Given the description of an element on the screen output the (x, y) to click on. 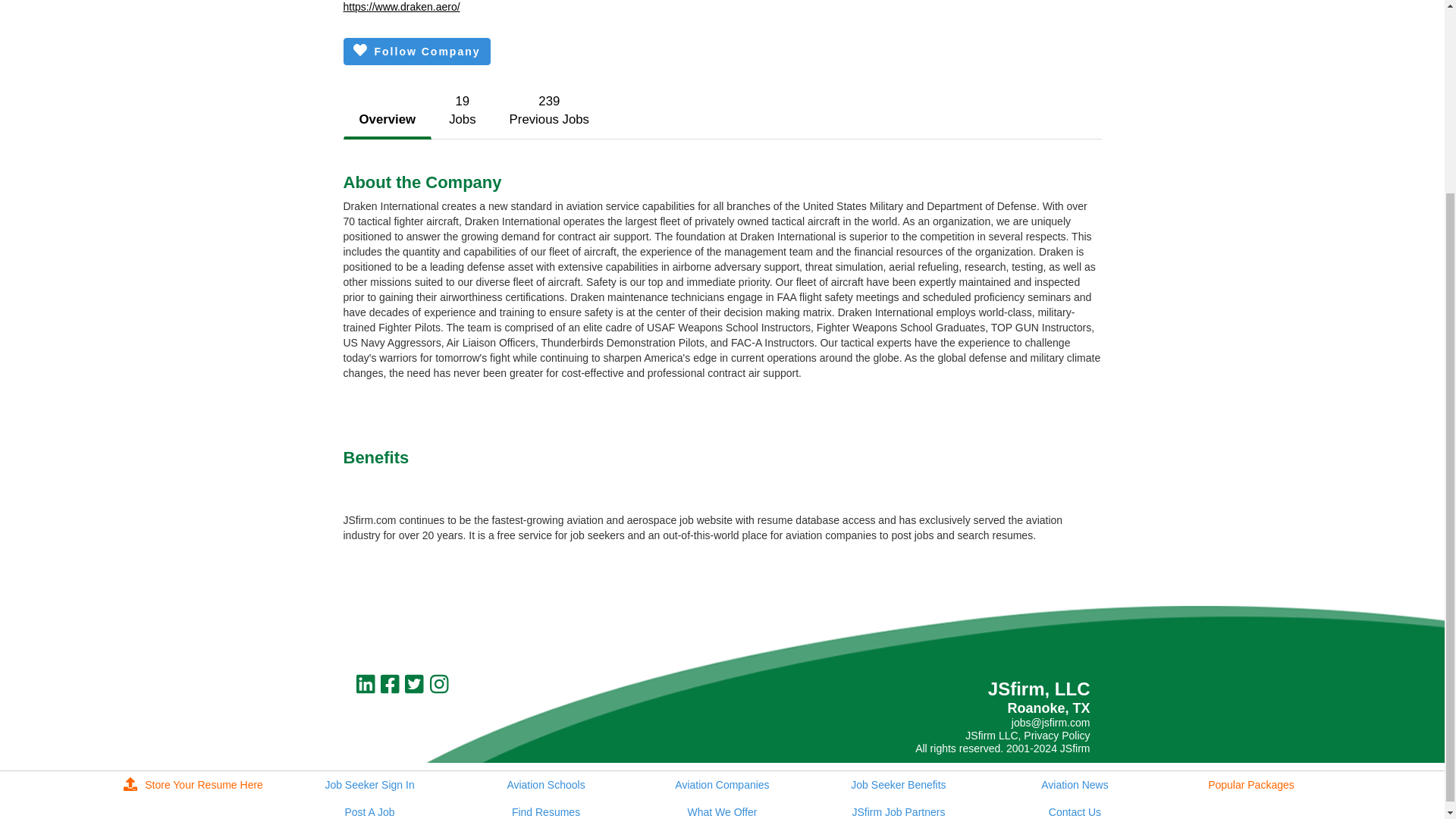
Overview (386, 120)
Follow Company (462, 110)
